Given the description of an element on the screen output the (x, y) to click on. 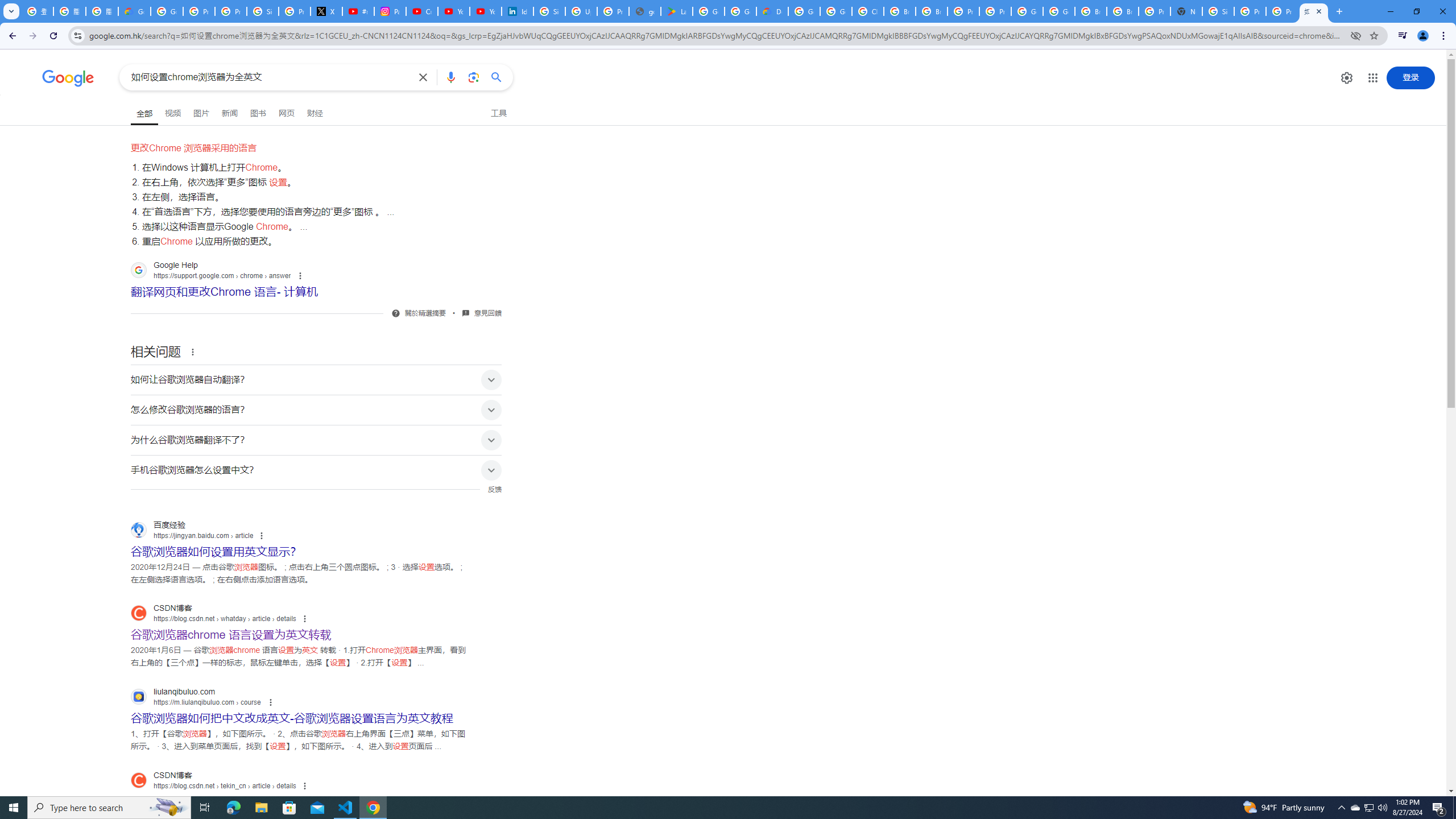
X (326, 11)
